Given the description of an element on the screen output the (x, y) to click on. 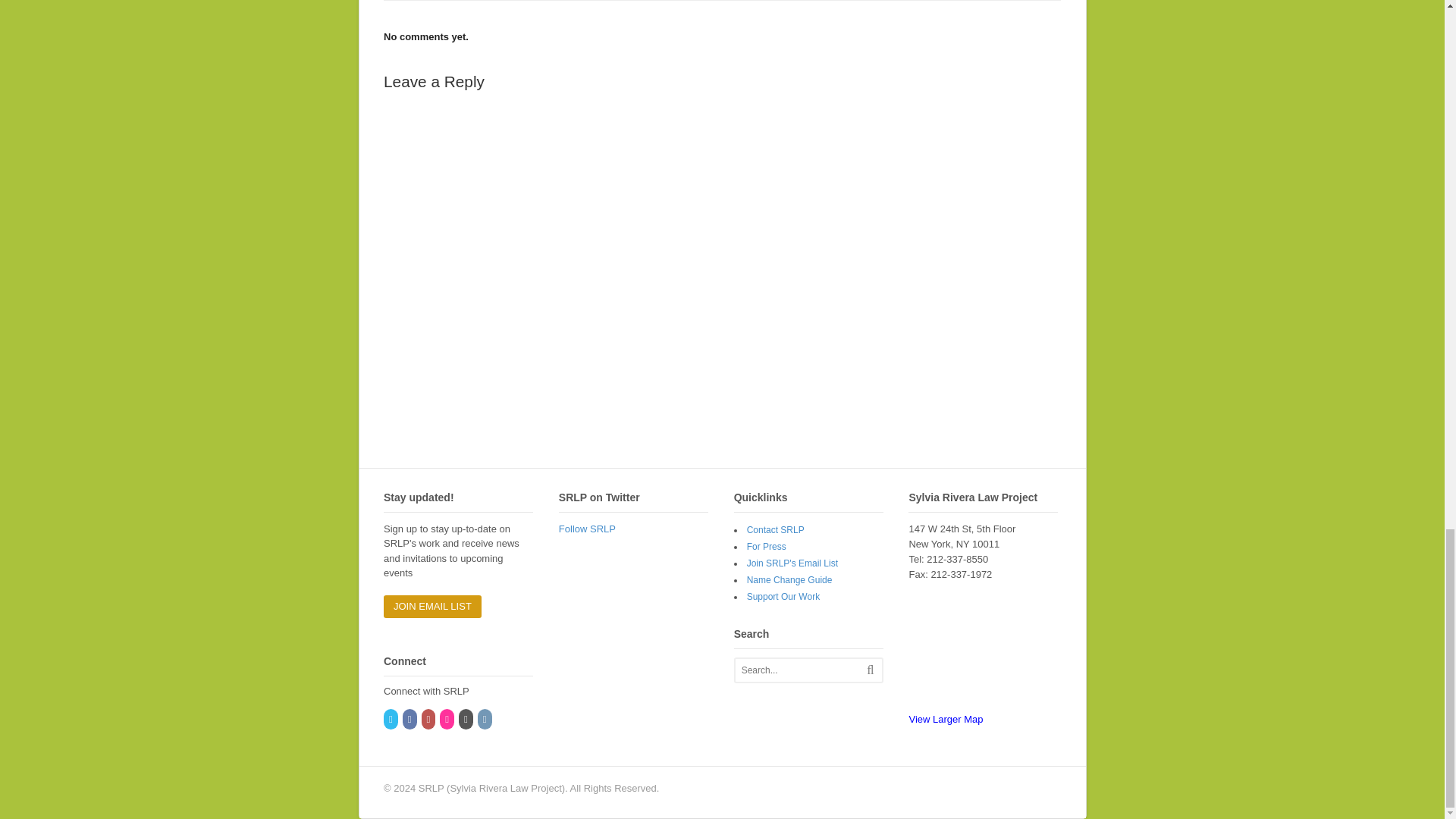
Flickr (447, 719)
Facebook (411, 719)
Twitter (391, 719)
YouTube (430, 719)
Search... (803, 670)
